Given the description of an element on the screen output the (x, y) to click on. 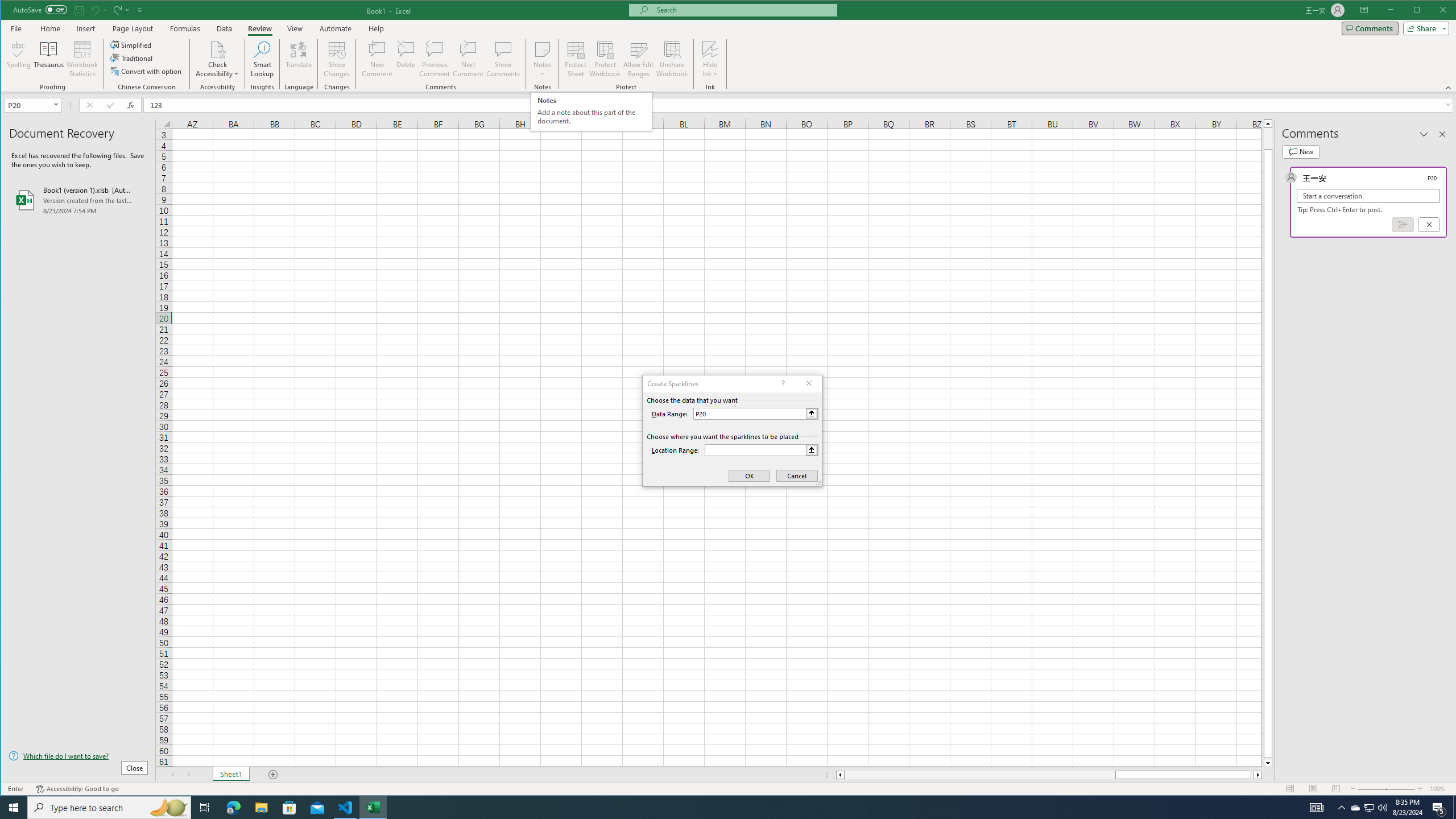
System (11, 10)
Zoom Out (1372, 788)
Next Comment (467, 59)
Hide Ink (710, 48)
Traditional (132, 57)
Cancel (1428, 224)
Ribbon Display Options (1364, 9)
Page left (979, 774)
Name Box (32, 105)
Page Break Preview (1335, 788)
Line down (1267, 763)
Previous Comment (434, 59)
Thesaurus... (48, 59)
Zoom In (1420, 788)
Undo (94, 9)
